Given the description of an element on the screen output the (x, y) to click on. 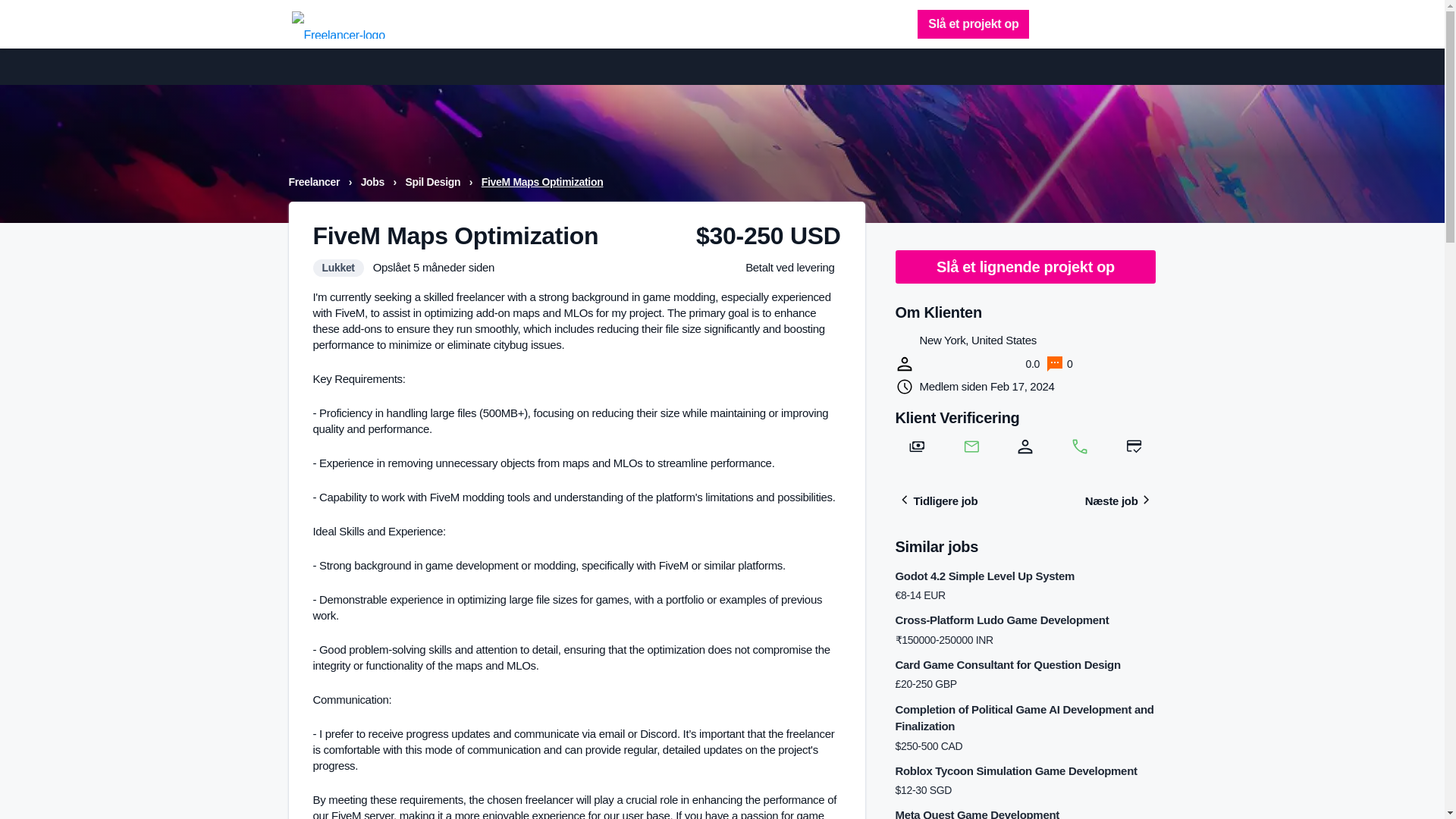
Tidligere job (935, 500)
United States (904, 341)
Jobs (374, 182)
Freelancer (315, 182)
Spil Design (434, 182)
